Given the description of an element on the screen output the (x, y) to click on. 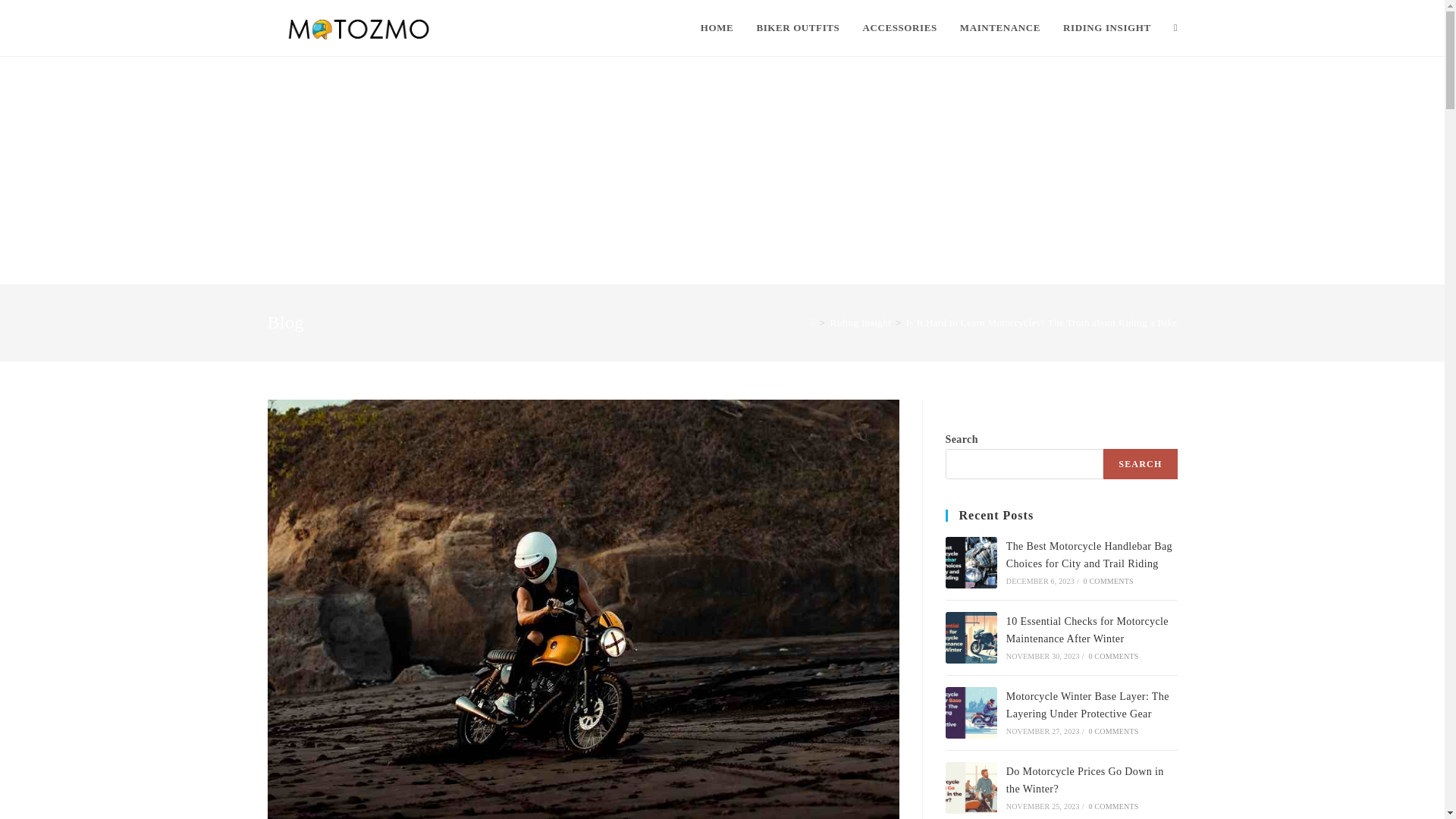
RIDING INSIGHT (1106, 28)
Riding Insight (860, 322)
ACCESSORIES (898, 28)
HOME (716, 28)
MAINTENANCE (1000, 28)
BIKER OUTFITS (797, 28)
